Given the description of an element on the screen output the (x, y) to click on. 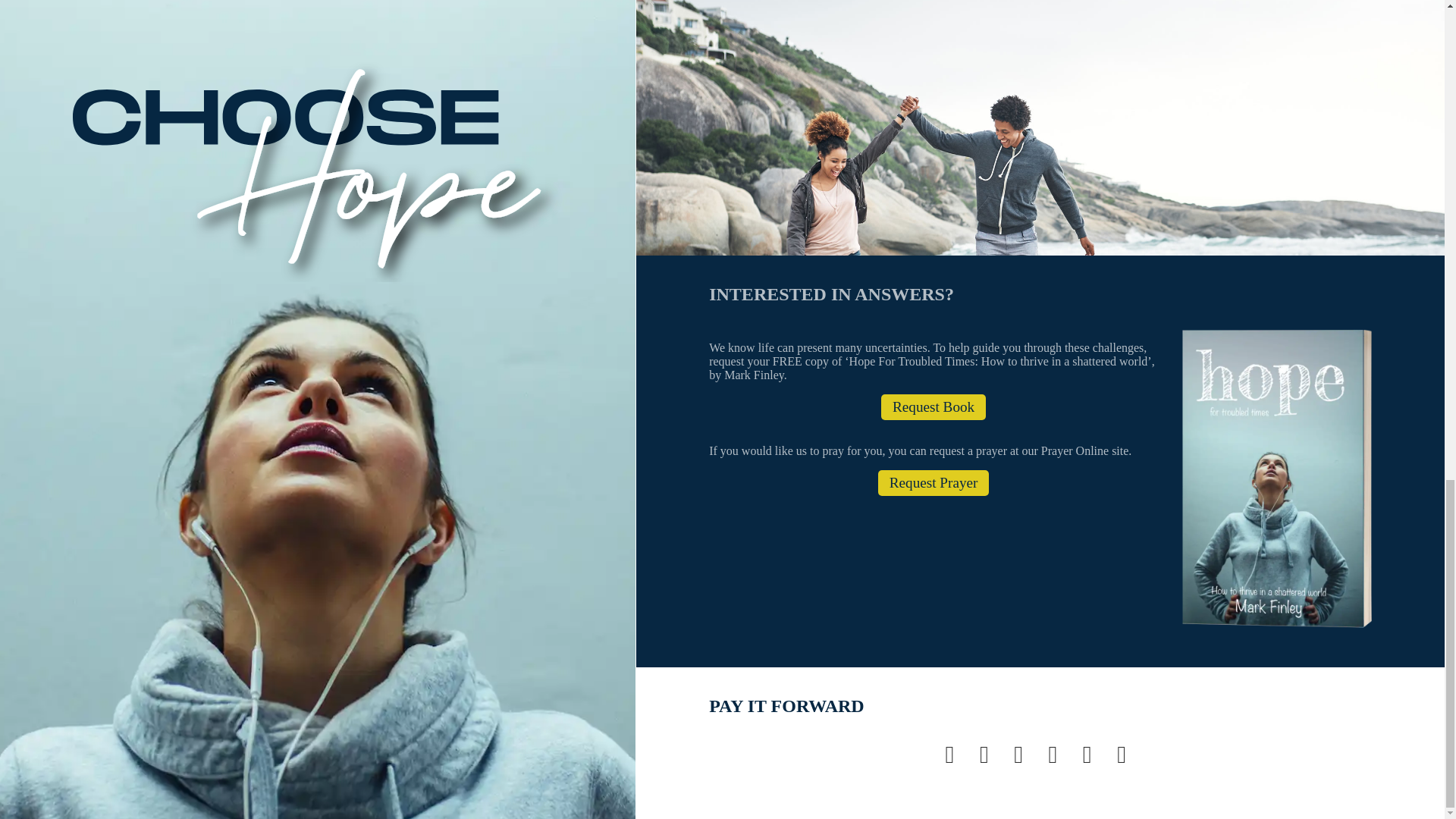
Copy link (1125, 755)
Facebook (953, 755)
Text message (1022, 755)
Request Prayer (933, 483)
Messenger (1092, 755)
Twitter (988, 755)
WhatsApp (1057, 755)
Request Book (932, 406)
